Given the description of an element on the screen output the (x, y) to click on. 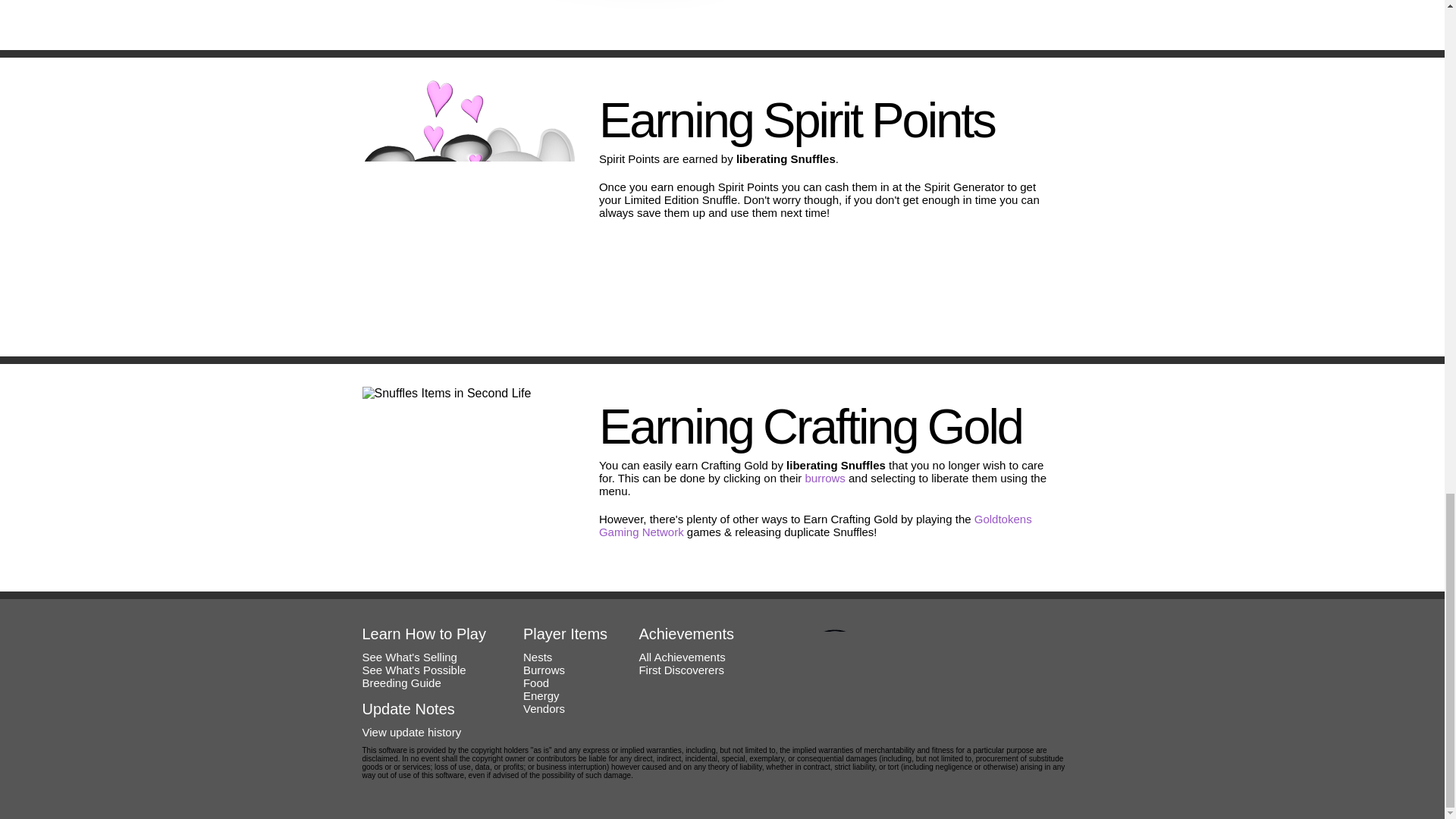
See What's Possible (413, 669)
burrows (825, 477)
Goldtokens Gaming Network (815, 525)
Nests (536, 656)
All Achievements (682, 656)
View update history (411, 731)
Burrows (543, 669)
Breeding Guide (401, 682)
Food (535, 682)
See What's Selling (409, 656)
